Given the description of an element on the screen output the (x, y) to click on. 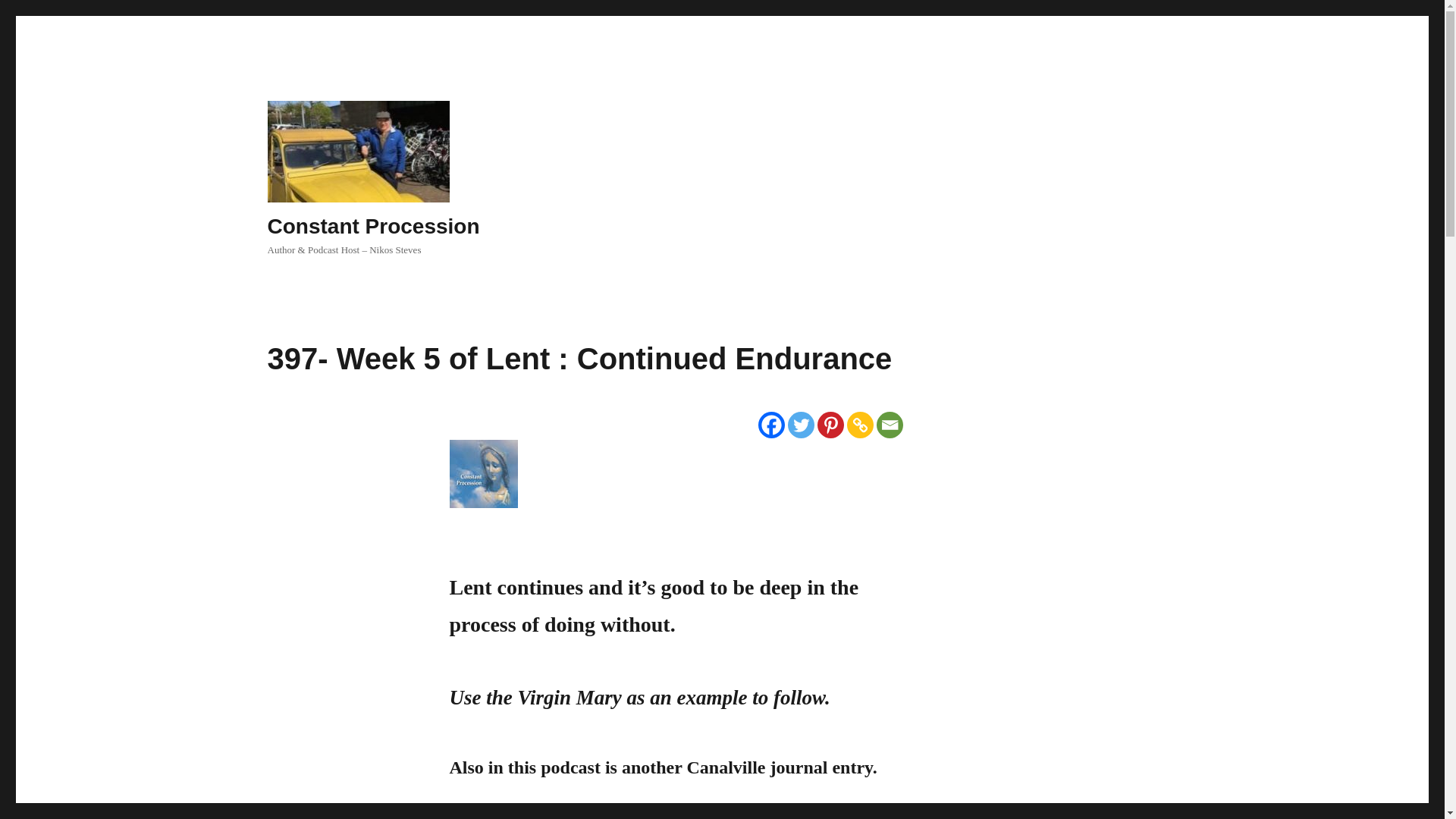
Twitter (800, 424)
Facebook (771, 424)
Pinterest (830, 424)
Copy Link (858, 424)
Libsyn Player (676, 473)
Email (889, 424)
Constant Procession (372, 226)
